Given the description of an element on the screen output the (x, y) to click on. 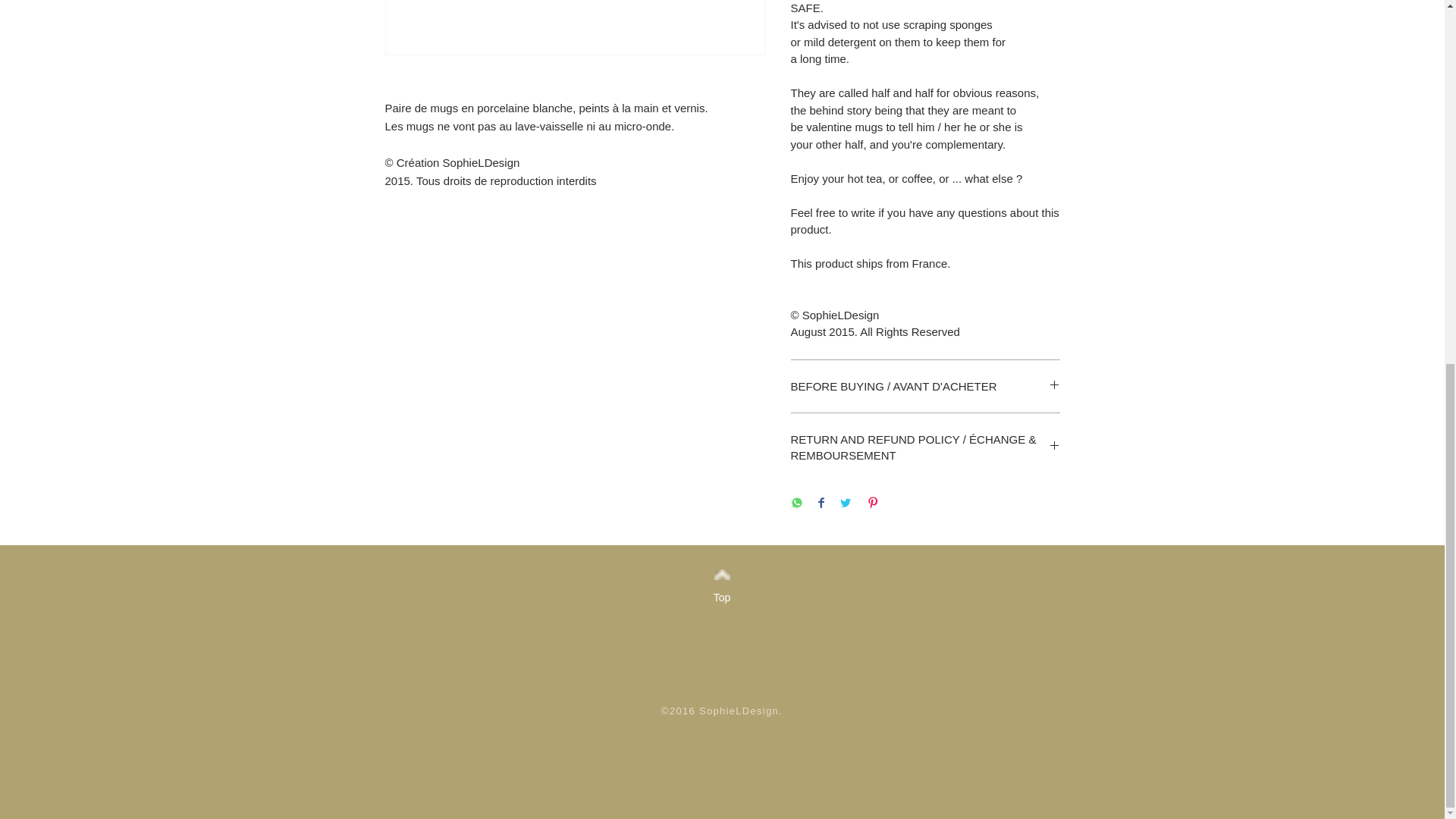
Top (721, 598)
